Given the description of an element on the screen output the (x, y) to click on. 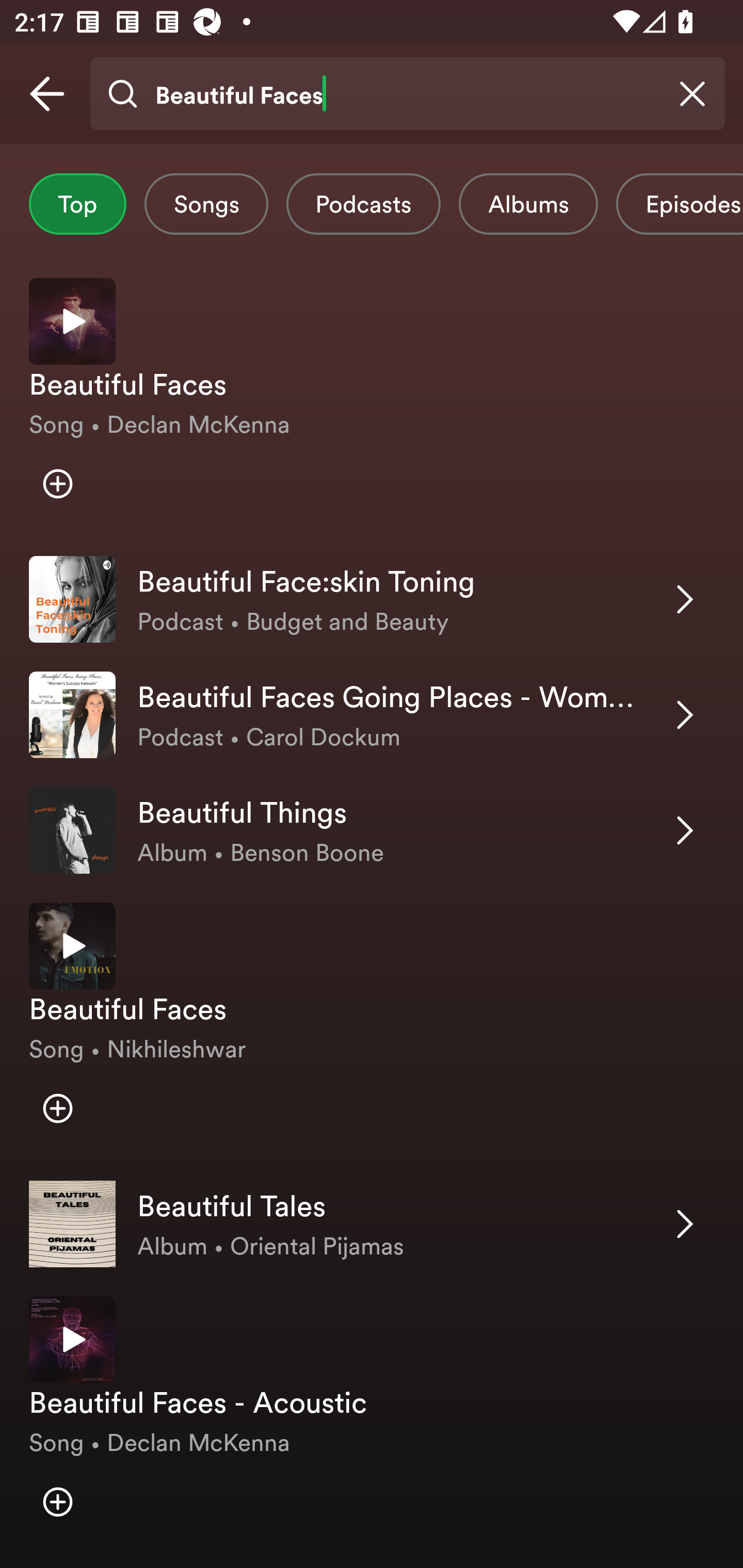
Back (46, 93)
Beautiful Faces Search (407, 94)
Clear Search (692, 94)
Top (77, 203)
Songs (206, 203)
Podcasts (363, 203)
Albums (528, 203)
Episodes (679, 203)
Play preview (71, 321)
Add item (57, 483)
Beautiful Things Album • Benson Boone (371, 830)
Play preview (71, 946)
Add item (57, 1108)
Beautiful Tales Album • Oriental Pijamas (371, 1223)
Play preview (71, 1339)
Add item (57, 1502)
